Given the description of an element on the screen output the (x, y) to click on. 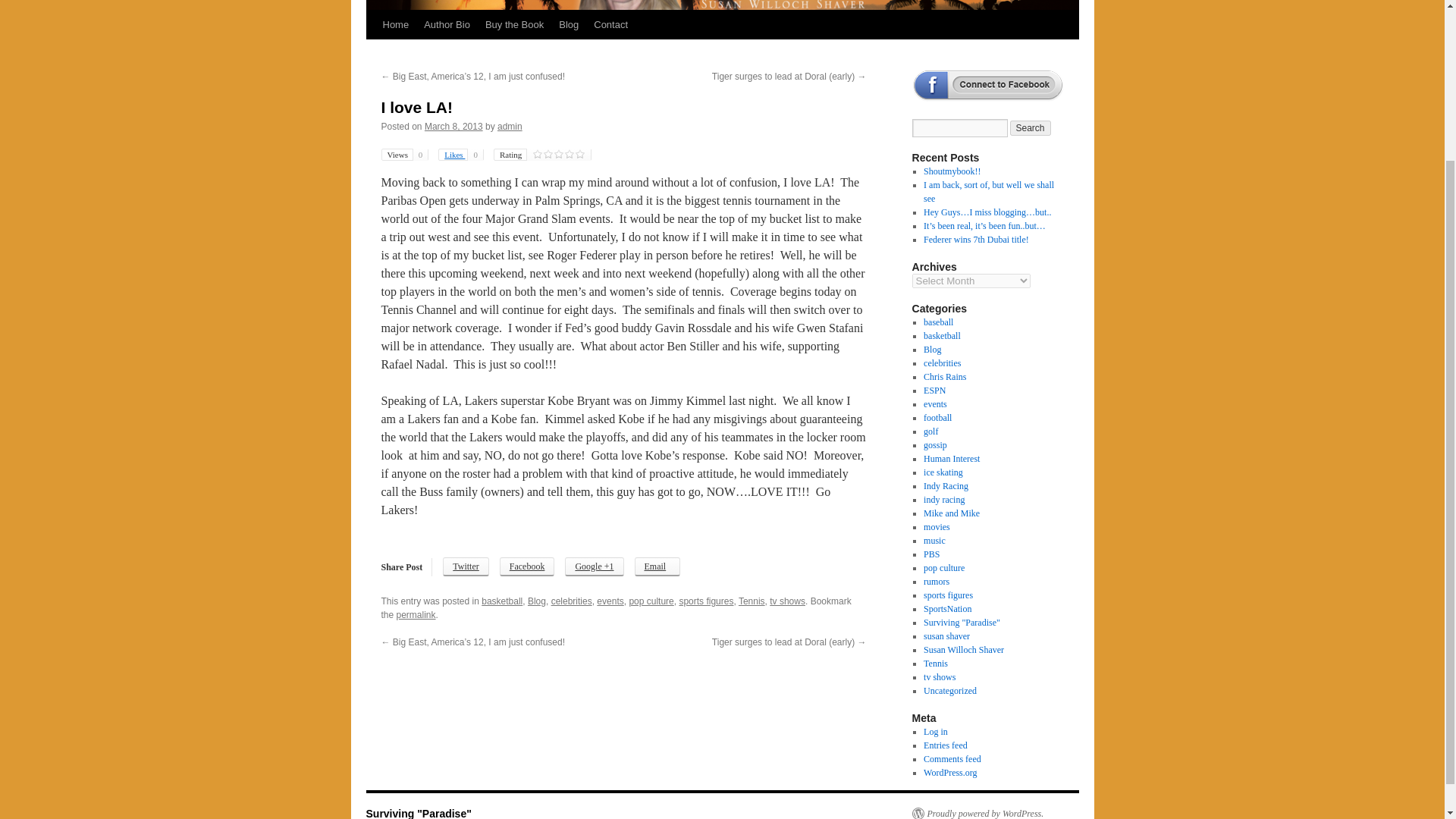
events (609, 601)
Buy the Book (514, 24)
celebrities (571, 601)
Tennis (751, 601)
Facebook (526, 566)
Share on Facebook (526, 566)
sports figures (705, 601)
basketball (501, 601)
I am back, sort of, but well we shall see (988, 191)
Twitter (464, 566)
